Given the description of an element on the screen output the (x, y) to click on. 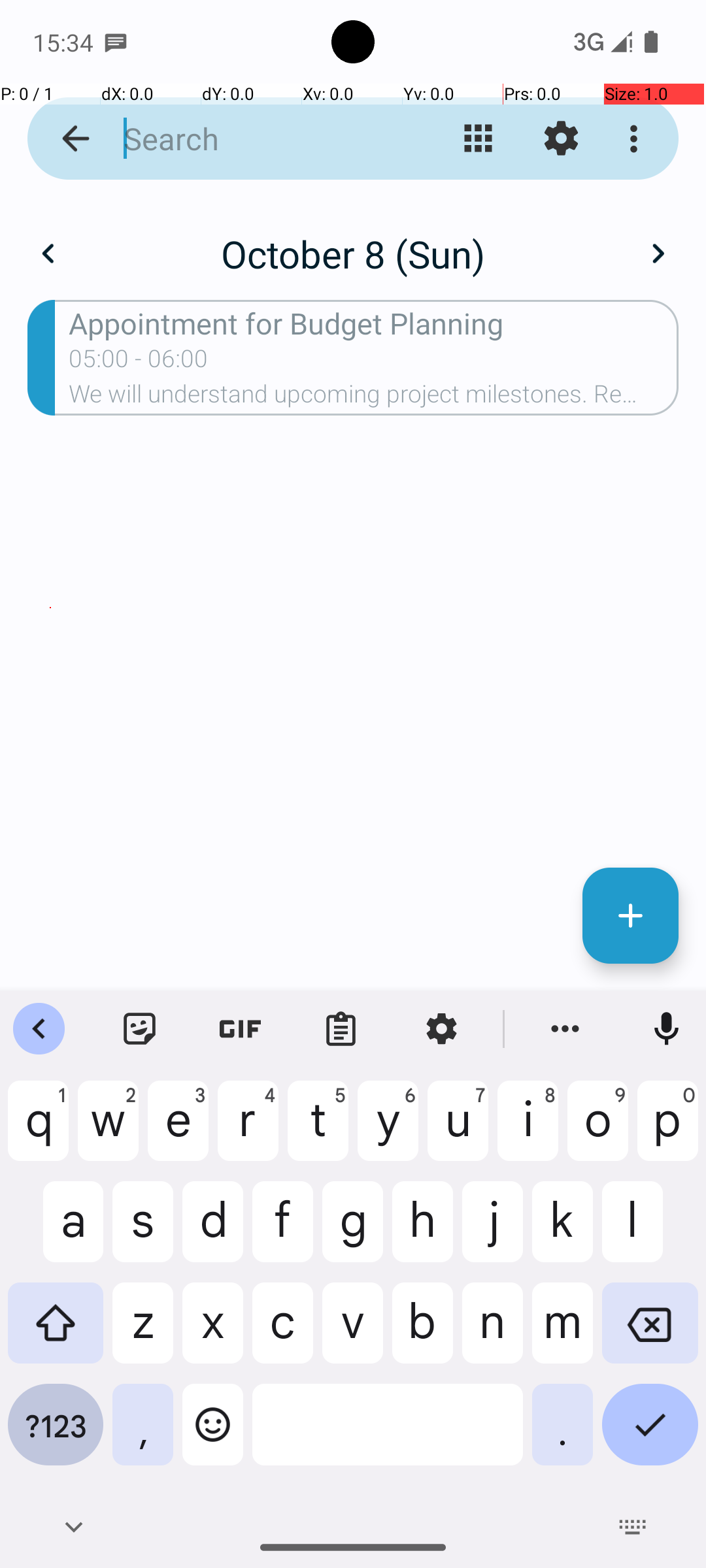
October 8 (Sun) Element type: android.widget.TextView (352, 253)
Appointment for Budget Planning Element type: android.widget.TextView (373, 321)
05:00 - 06:00 Element type: android.widget.TextView (137, 362)
We will understand upcoming project milestones. Remember to confirm attendance. Element type: android.widget.TextView (373, 397)
